Given the description of an element on the screen output the (x, y) to click on. 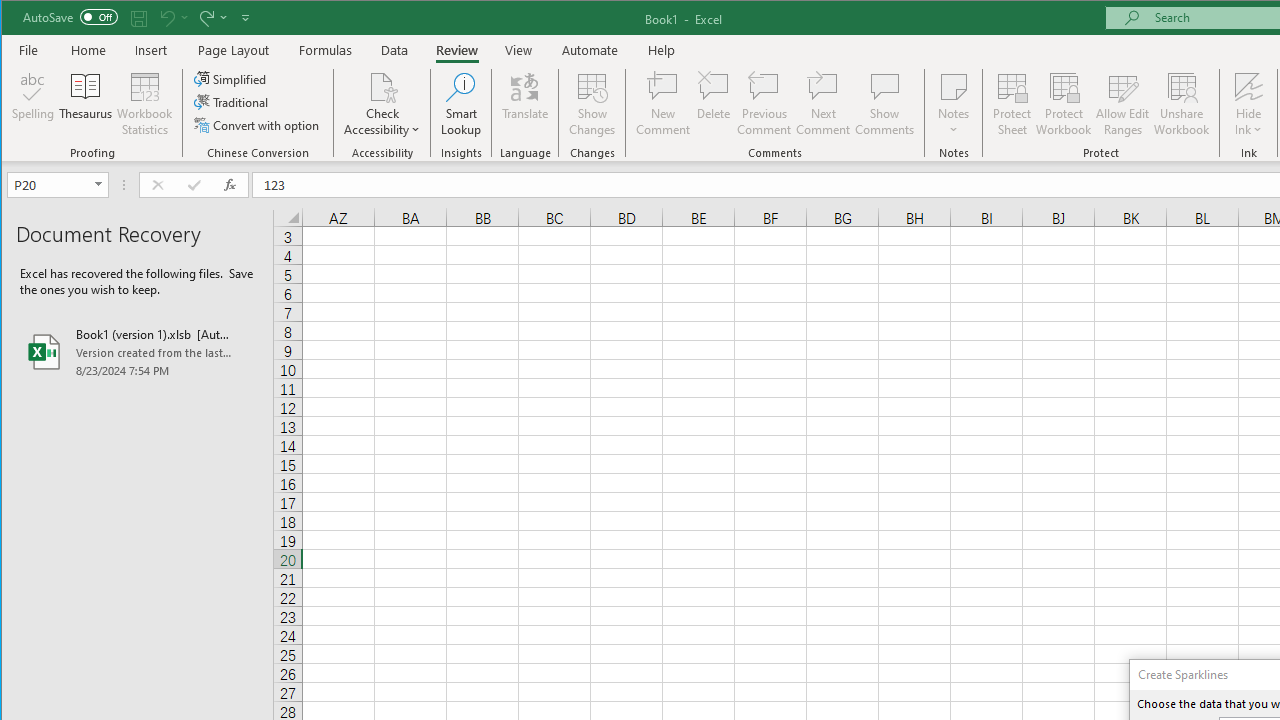
Delete (713, 104)
Quick Access Toolbar (137, 17)
Unshare Workbook (1182, 104)
Convert with option (258, 124)
Next Comment (822, 104)
Book1 (version 1).xlsb  [AutoRecovered] (137, 352)
Save (139, 17)
More Options (1248, 123)
Translate (525, 104)
Check Accessibility (381, 104)
Undo (172, 17)
Name Box (57, 184)
Redo (211, 17)
Allow Edit Ranges (1123, 104)
Automate (589, 50)
